Given the description of an element on the screen output the (x, y) to click on. 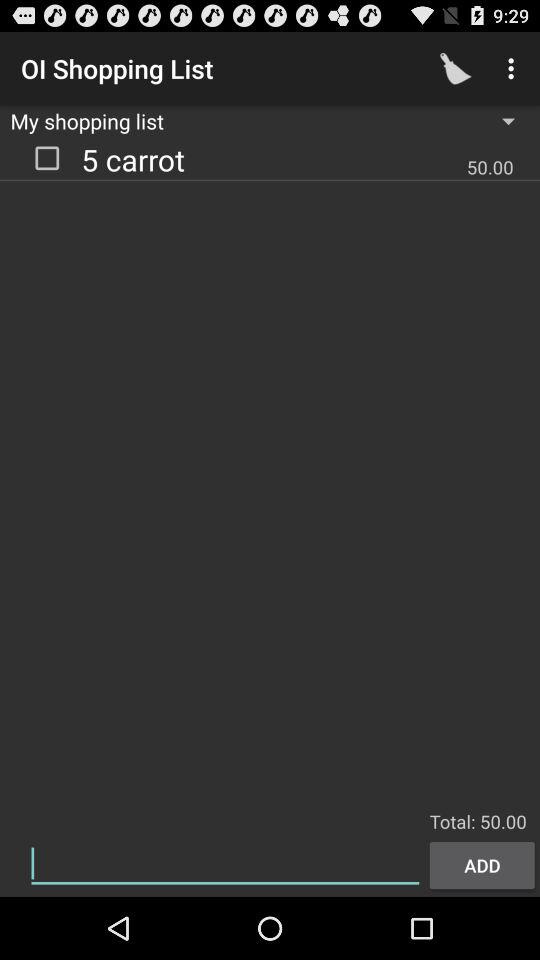
check off shopping list item 5 carrot (47, 157)
